Given the description of an element on the screen output the (x, y) to click on. 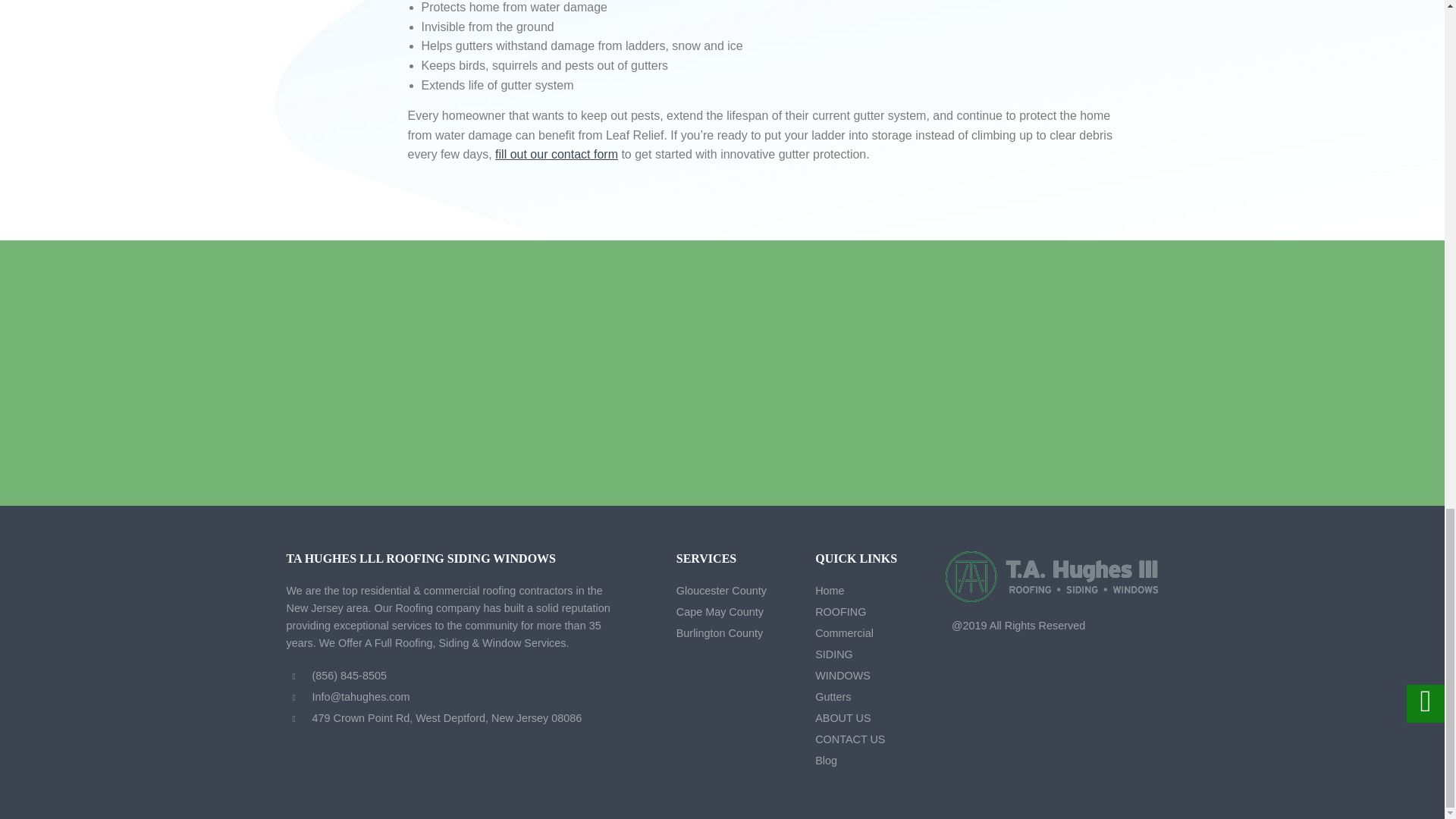
Home (829, 590)
ROOFING (840, 612)
Gloucester County (722, 590)
Cape May County (719, 612)
fill out our contact form (556, 154)
CONTACT US (556, 154)
Burlington County (719, 633)
